Given the description of an element on the screen output the (x, y) to click on. 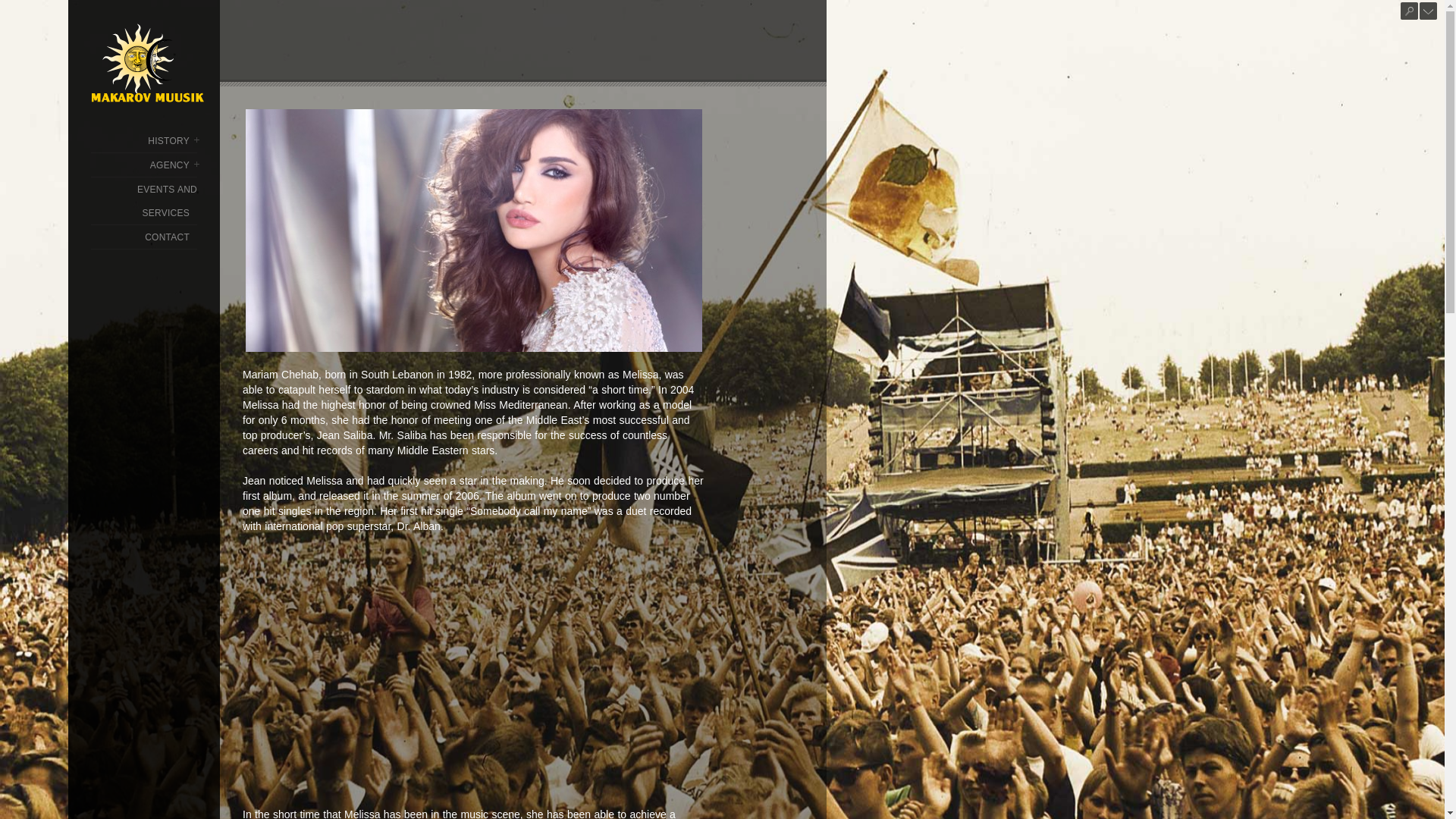
HISTORY (168, 140)
submit (1409, 10)
AGENCY (169, 164)
CONTACT (166, 236)
EVENTS AND SERVICES (166, 201)
